Given the description of an element on the screen output the (x, y) to click on. 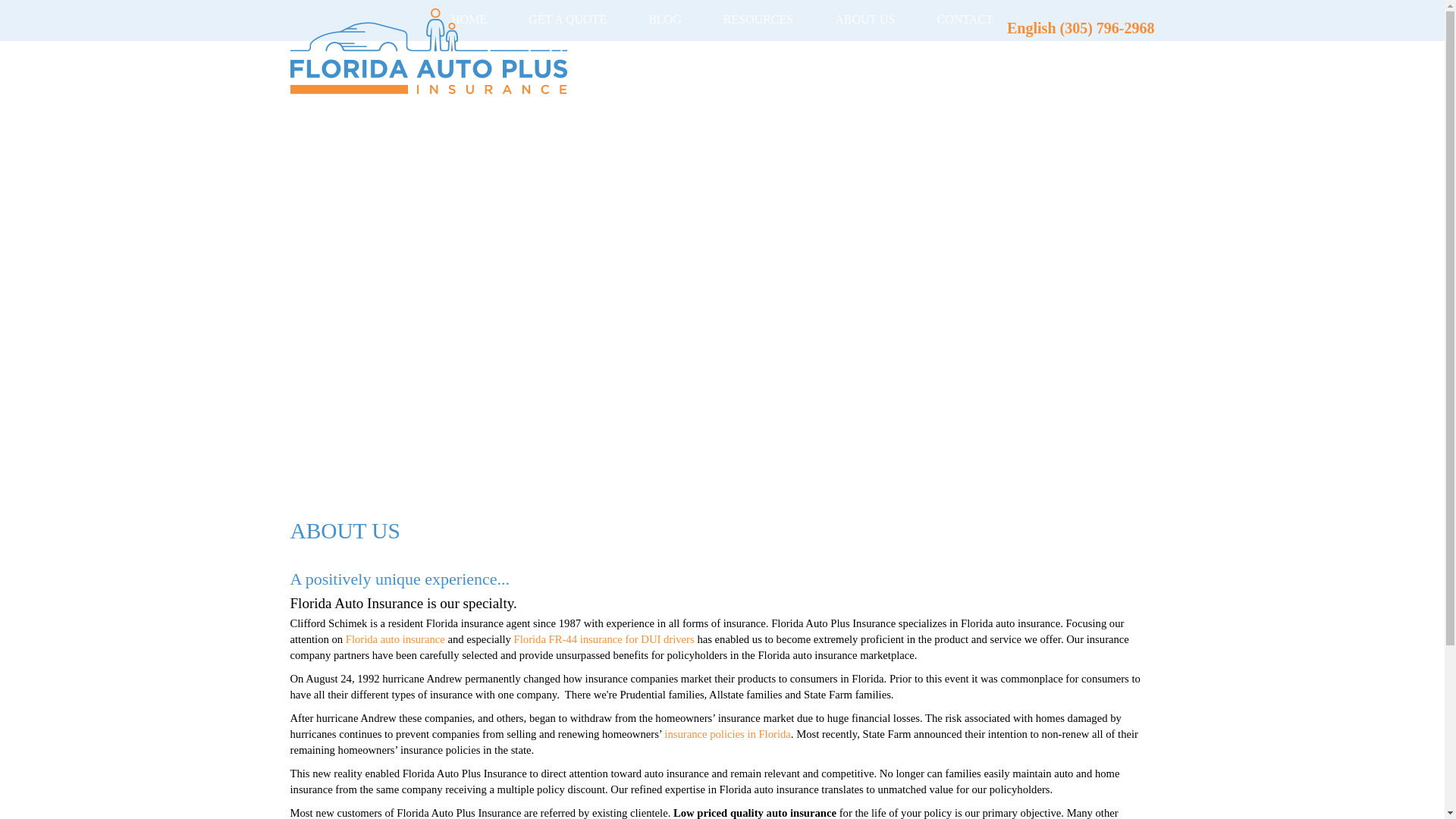
Florida auto insurance (395, 639)
Florida FR-44 insurance for DUI drivers (603, 639)
BLOG (664, 18)
insurance policies in Florida (726, 734)
HOME (468, 18)
GET A QUOTE (567, 18)
RESOURCES (758, 18)
CONTACT (964, 18)
ABOUT US (864, 18)
